Given the description of an element on the screen output the (x, y) to click on. 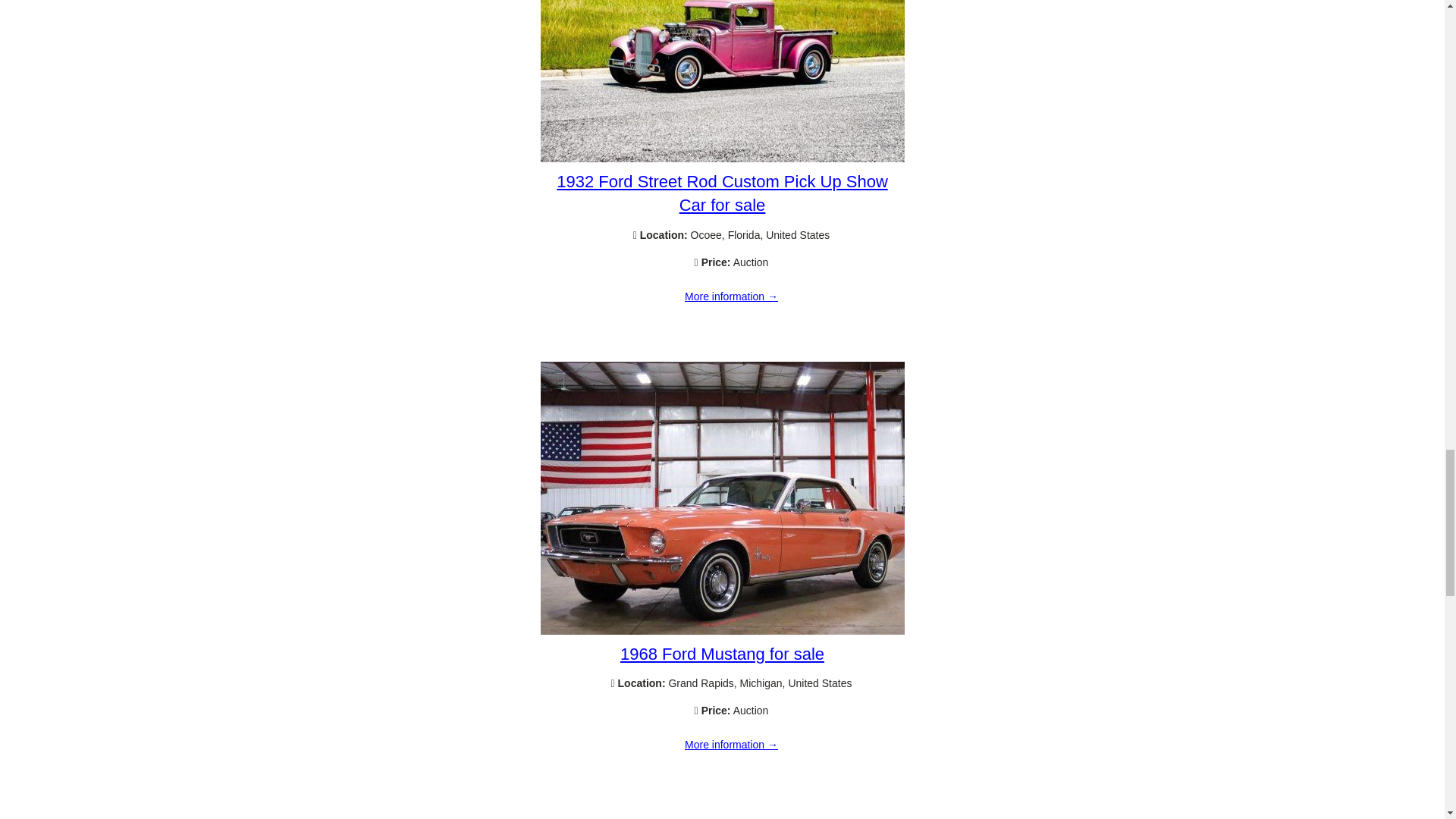
1932 Ford Street Rod Custom Pick Up Show Car for sale (731, 297)
1932 Ford Street Rod Custom Pick Up Show Car for sale (722, 158)
1968 Ford Mustang for sale (722, 630)
1968 Ford Mustang for sale (731, 745)
1932 Ford Street Rod Custom Pick Up Show Car for sale (722, 192)
1968 Ford Mustang for sale (722, 653)
